Given the description of an element on the screen output the (x, y) to click on. 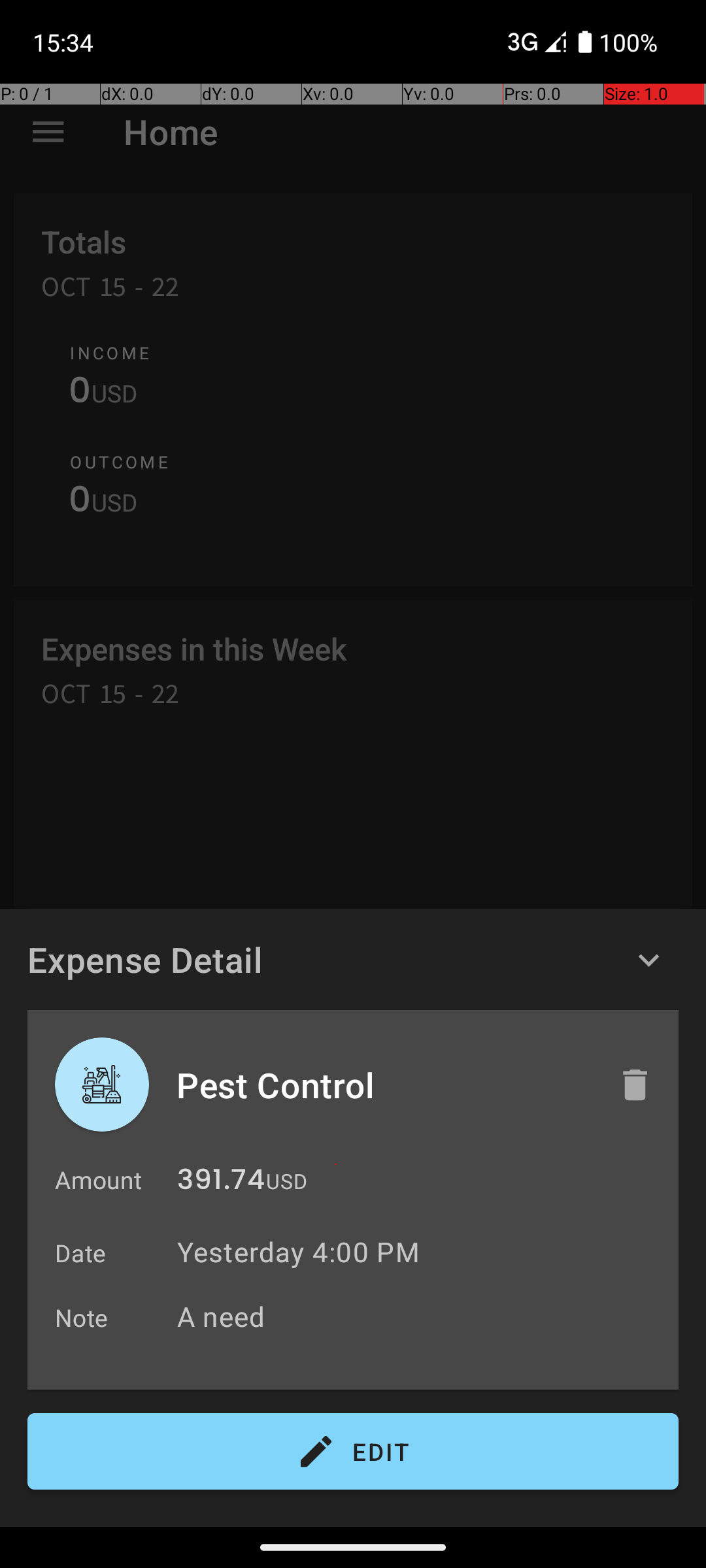
Pest Control Element type: android.widget.TextView (383, 1084)
391.74 Element type: android.widget.TextView (220, 1182)
Yesterday 4:00 PM Element type: android.widget.TextView (298, 1251)
A need Element type: android.widget.TextView (420, 1315)
